Given the description of an element on the screen output the (x, y) to click on. 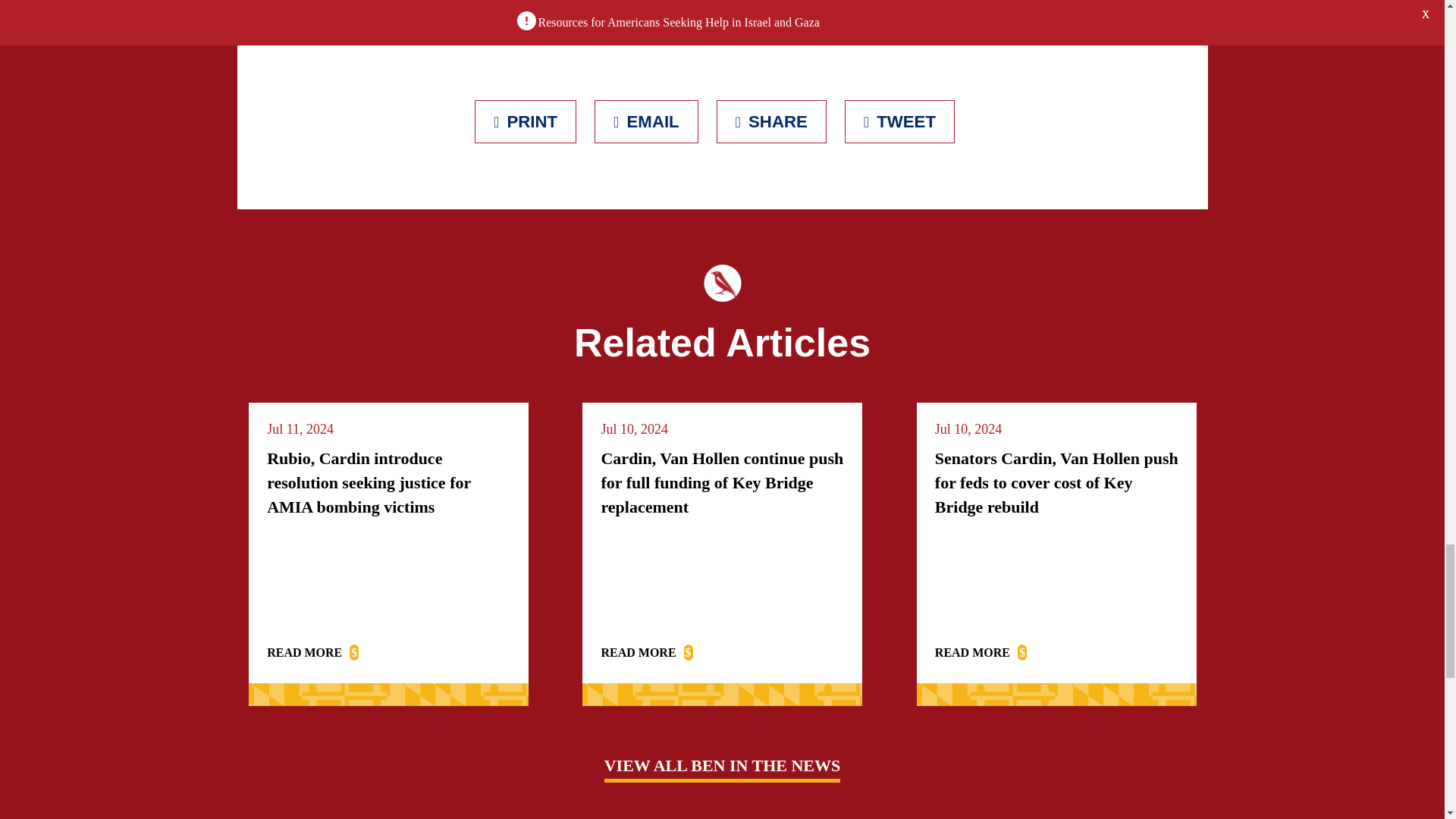
Bird Inverse (722, 283)
Tweet (899, 121)
Share on Facebook (771, 121)
Print (525, 121)
Email (646, 121)
